Given the description of an element on the screen output the (x, y) to click on. 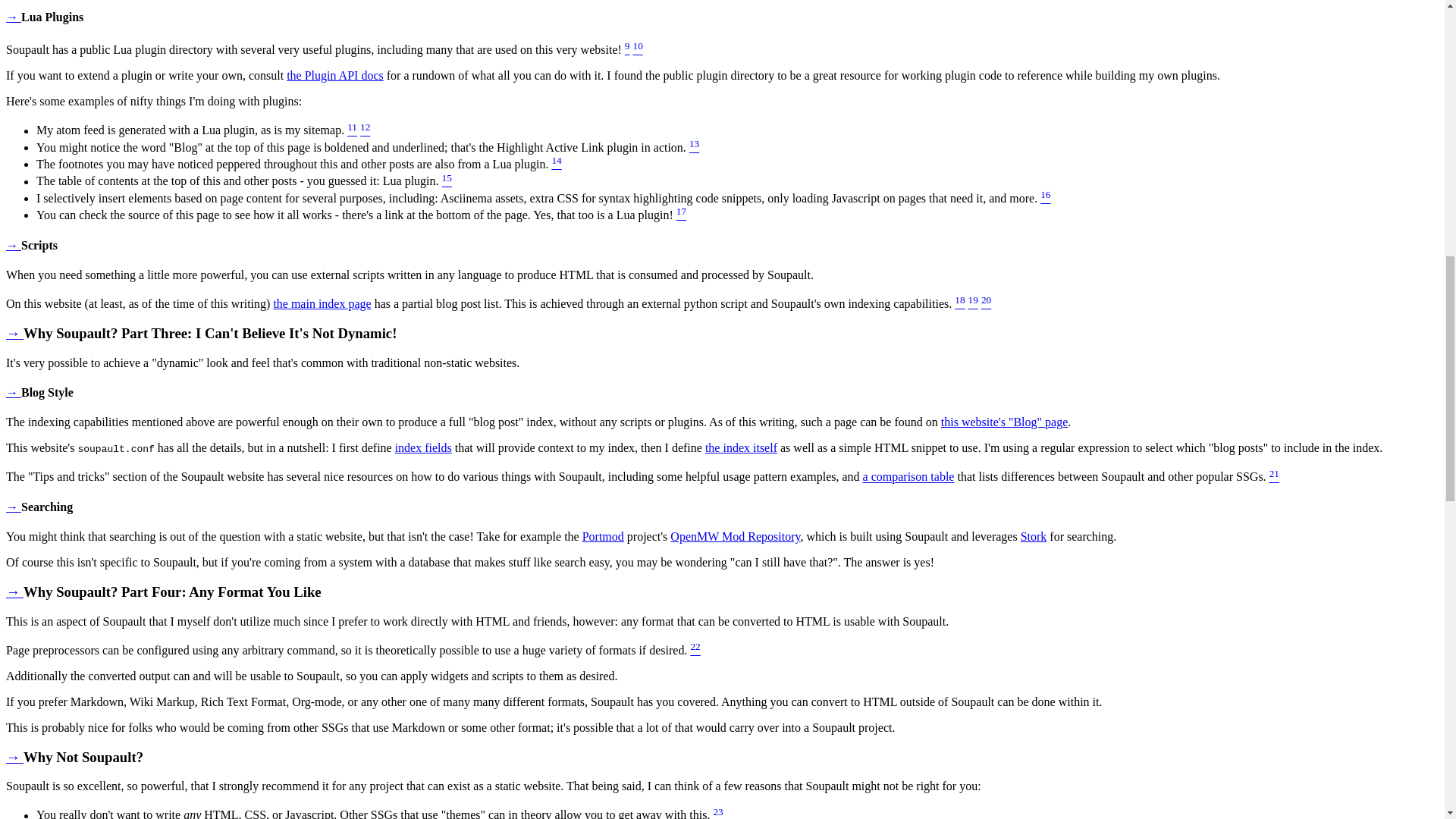
the Plugin API docs (335, 74)
